Given the description of an element on the screen output the (x, y) to click on. 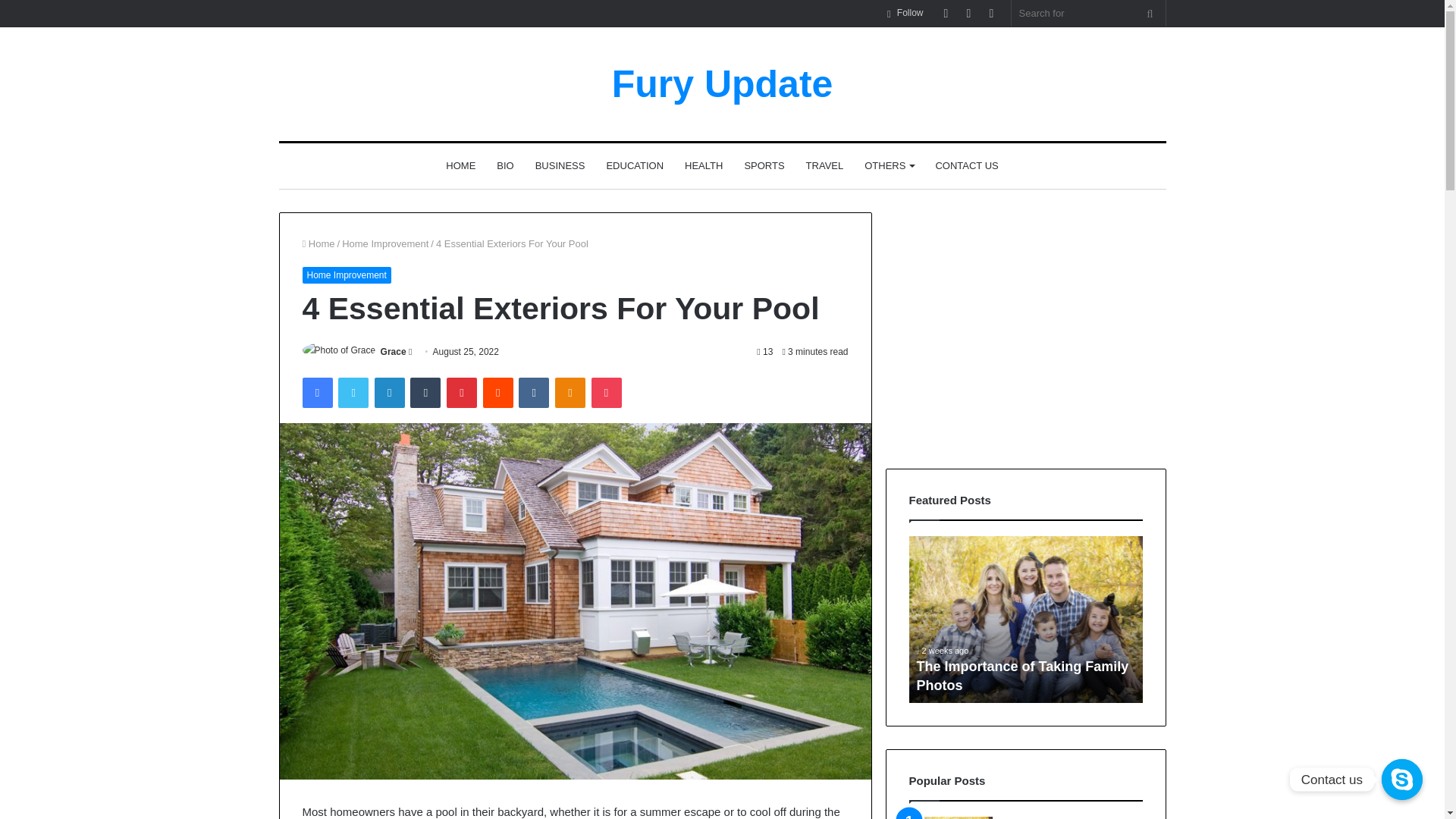
Home (317, 243)
Grace (393, 351)
Pocket (606, 392)
SPORTS (763, 166)
BUSINESS (559, 166)
VKontakte (533, 392)
OTHERS (888, 166)
Grace (393, 351)
Follow (905, 13)
Pocket (606, 392)
